Given the description of an element on the screen output the (x, y) to click on. 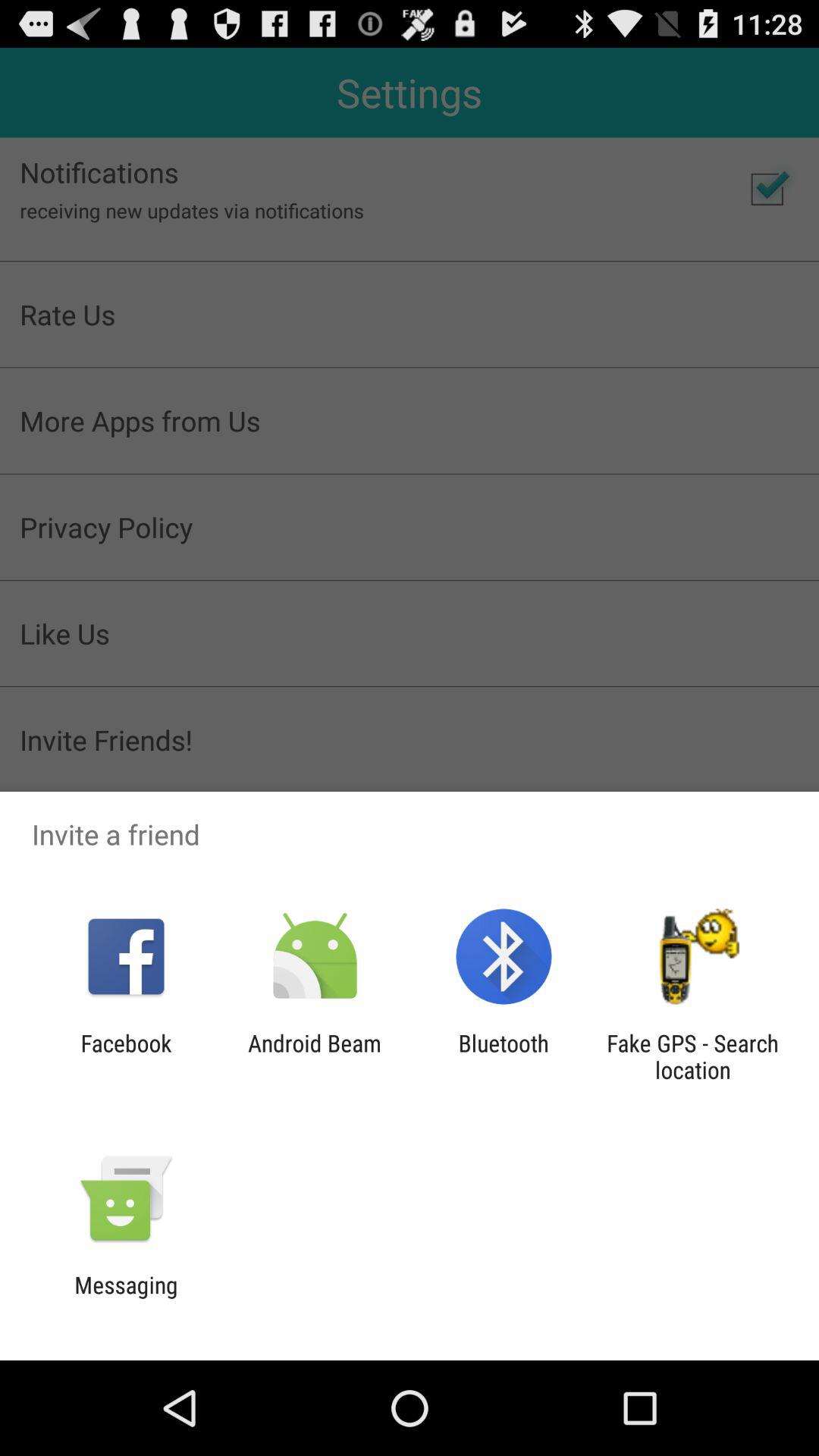
launch the icon to the right of facebook item (314, 1056)
